Given the description of an element on the screen output the (x, y) to click on. 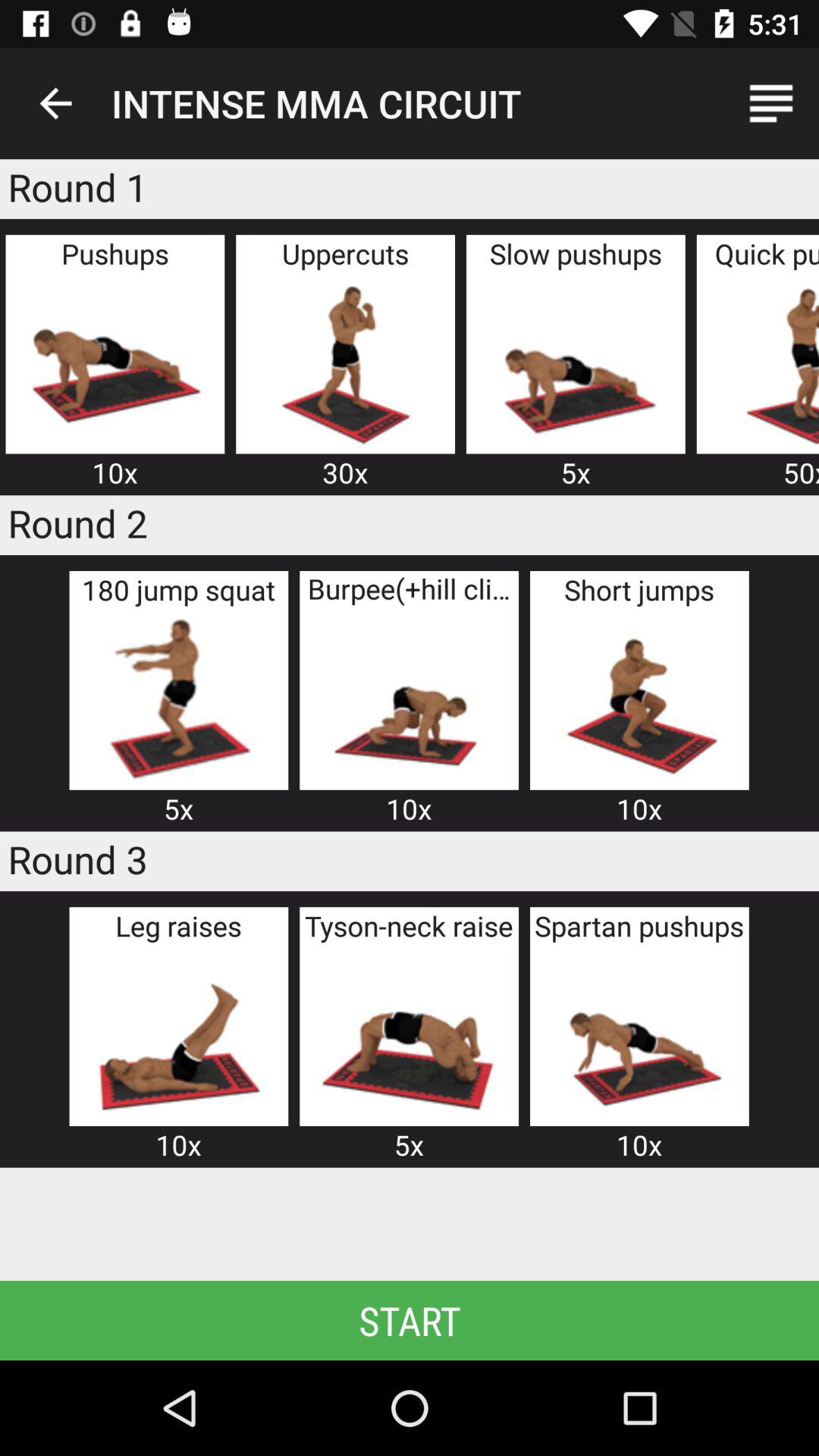
quick push up (767, 362)
